Given the description of an element on the screen output the (x, y) to click on. 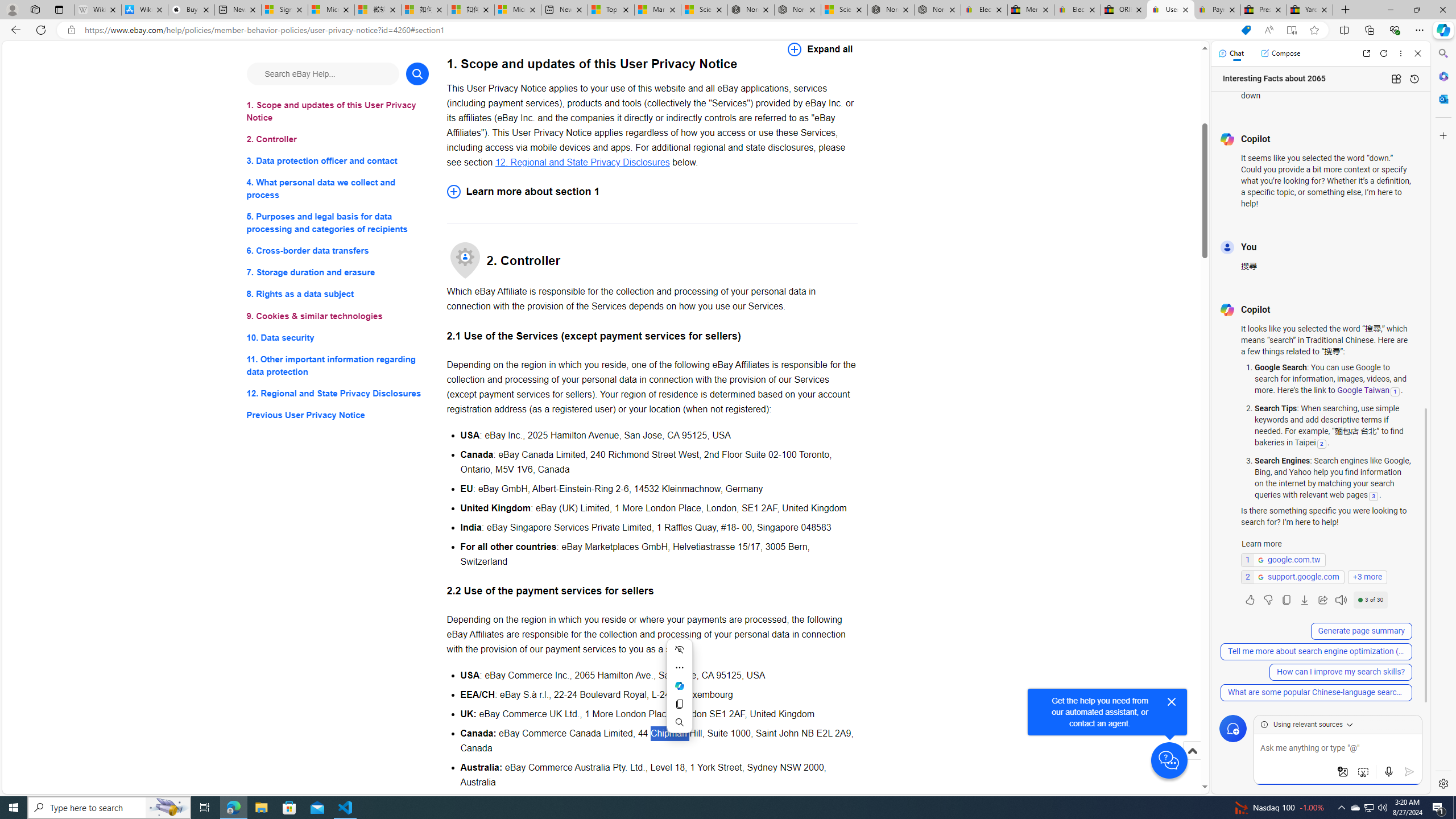
Top Stories - MSN (610, 9)
More actions (678, 667)
Sign in to your Microsoft account (284, 9)
10. Data security (337, 336)
Copy (678, 704)
